Given the description of an element on the screen output the (x, y) to click on. 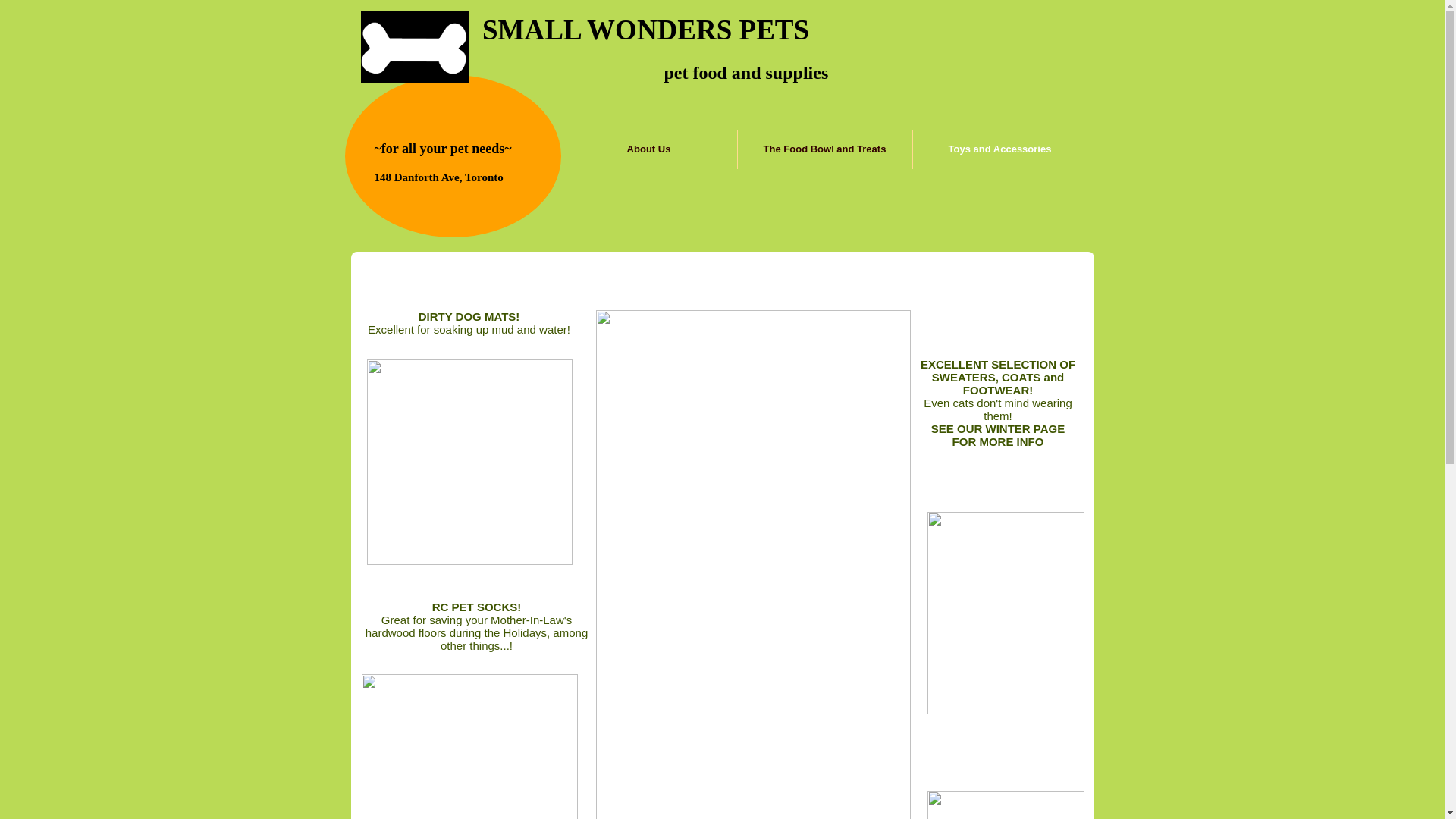
  SMALL WONDERS PETS   (646, 29)
About Us (648, 148)
Toys and Accessories (999, 148)
The Food Bowl and Treats (823, 148)
sw bone.gif (414, 46)
